Given the description of an element on the screen output the (x, y) to click on. 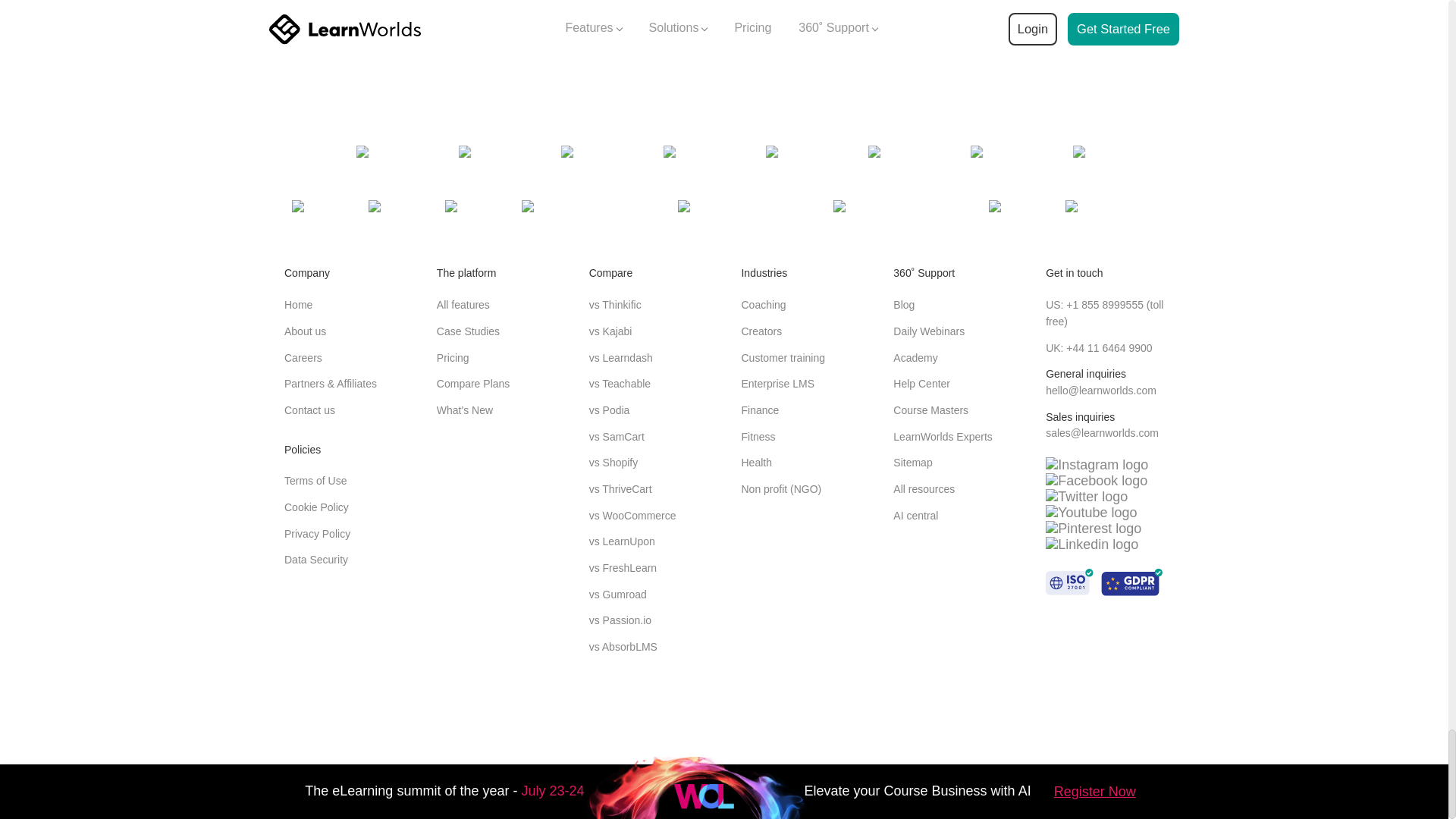
send email to LearnWorlds (1101, 432)
send email to LearnWorlds (1100, 390)
